Given the description of an element on the screen output the (x, y) to click on. 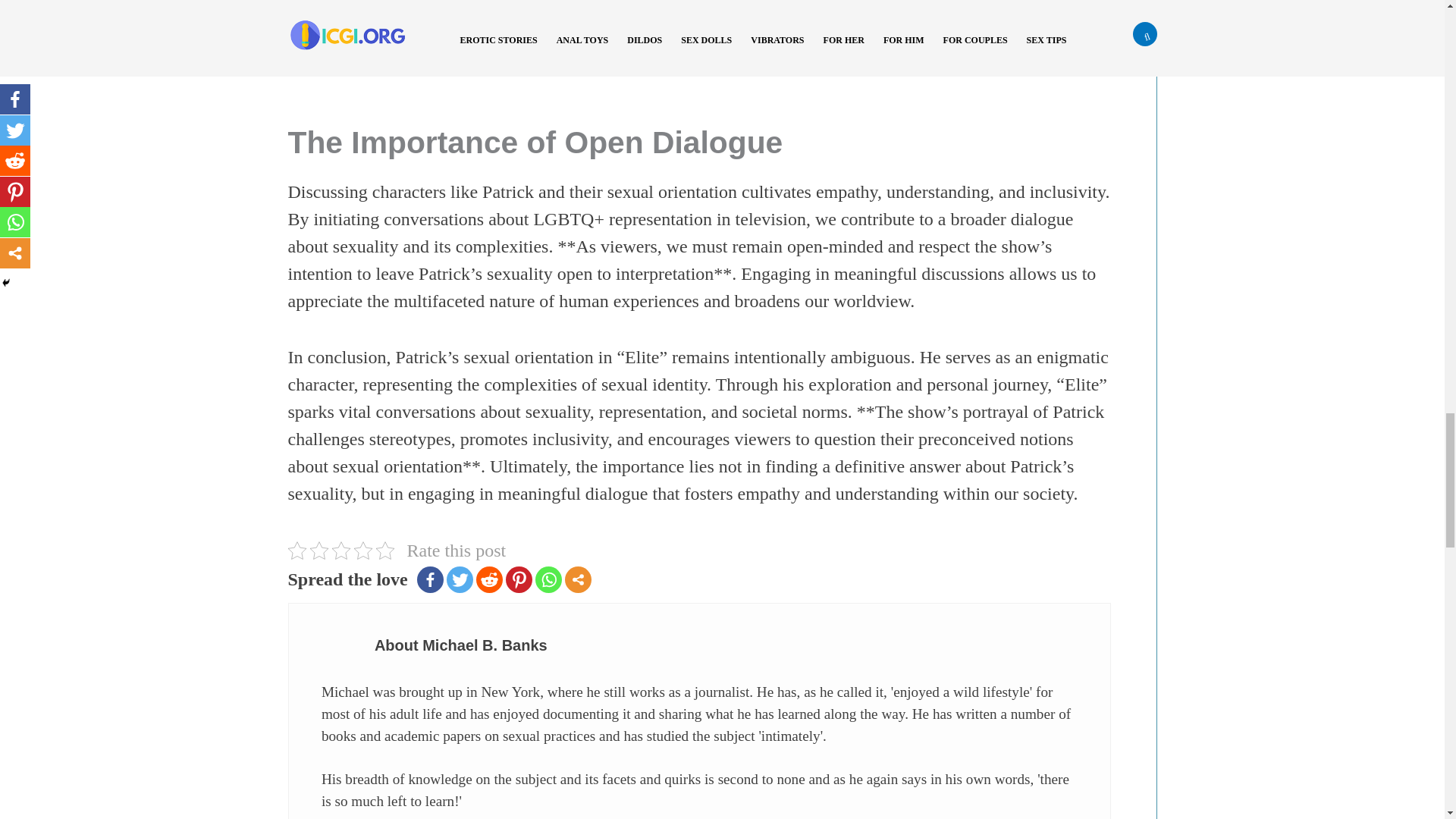
Facebook (430, 579)
More (577, 579)
Pinterest (518, 579)
Reddit (489, 579)
Whatsapp (548, 579)
Twitter (459, 579)
